Given the description of an element on the screen output the (x, y) to click on. 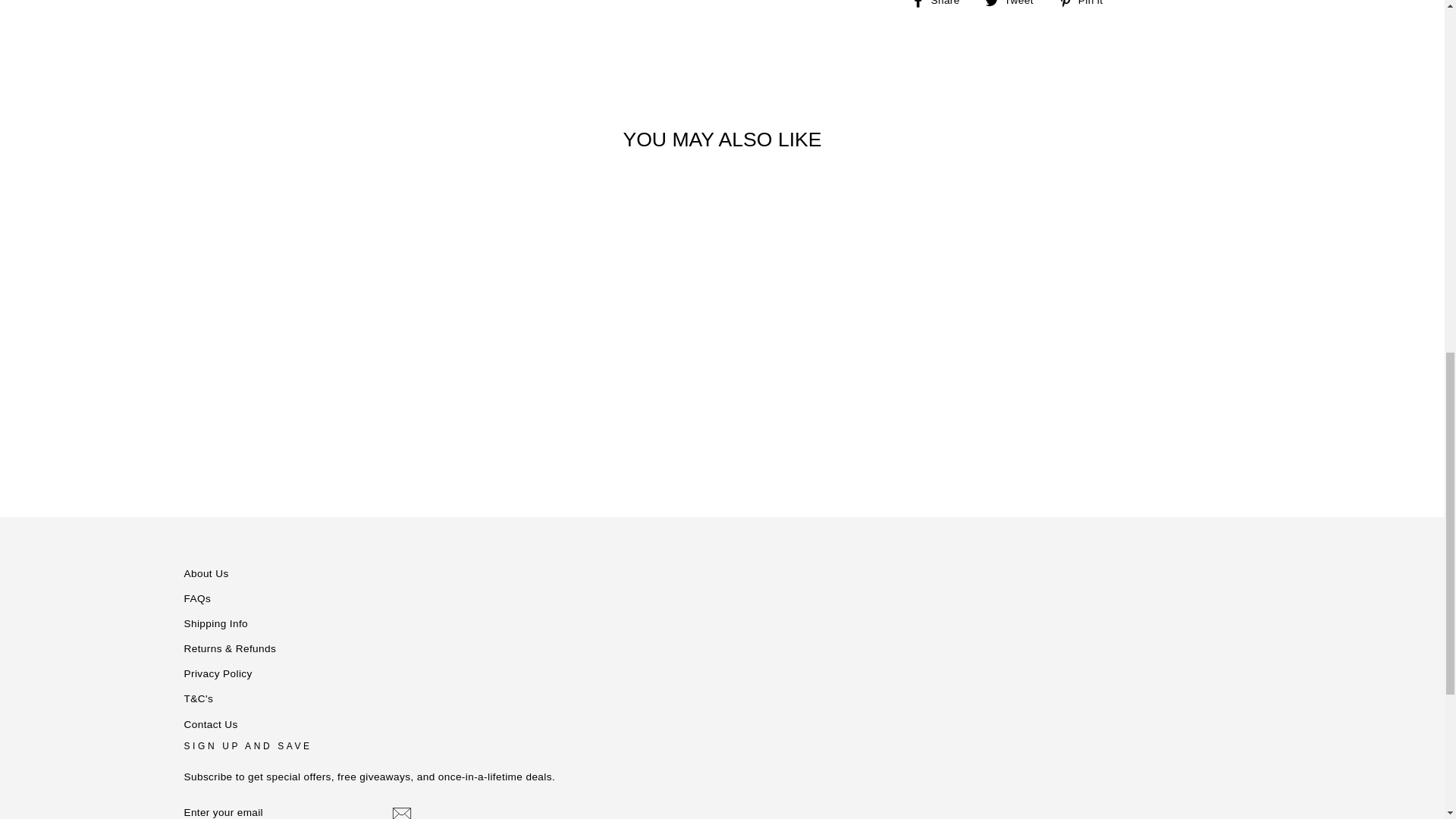
Tweet on Twitter (1015, 4)
Pin on Pinterest (1085, 4)
Share on Facebook (941, 4)
